Given the description of an element on the screen output the (x, y) to click on. 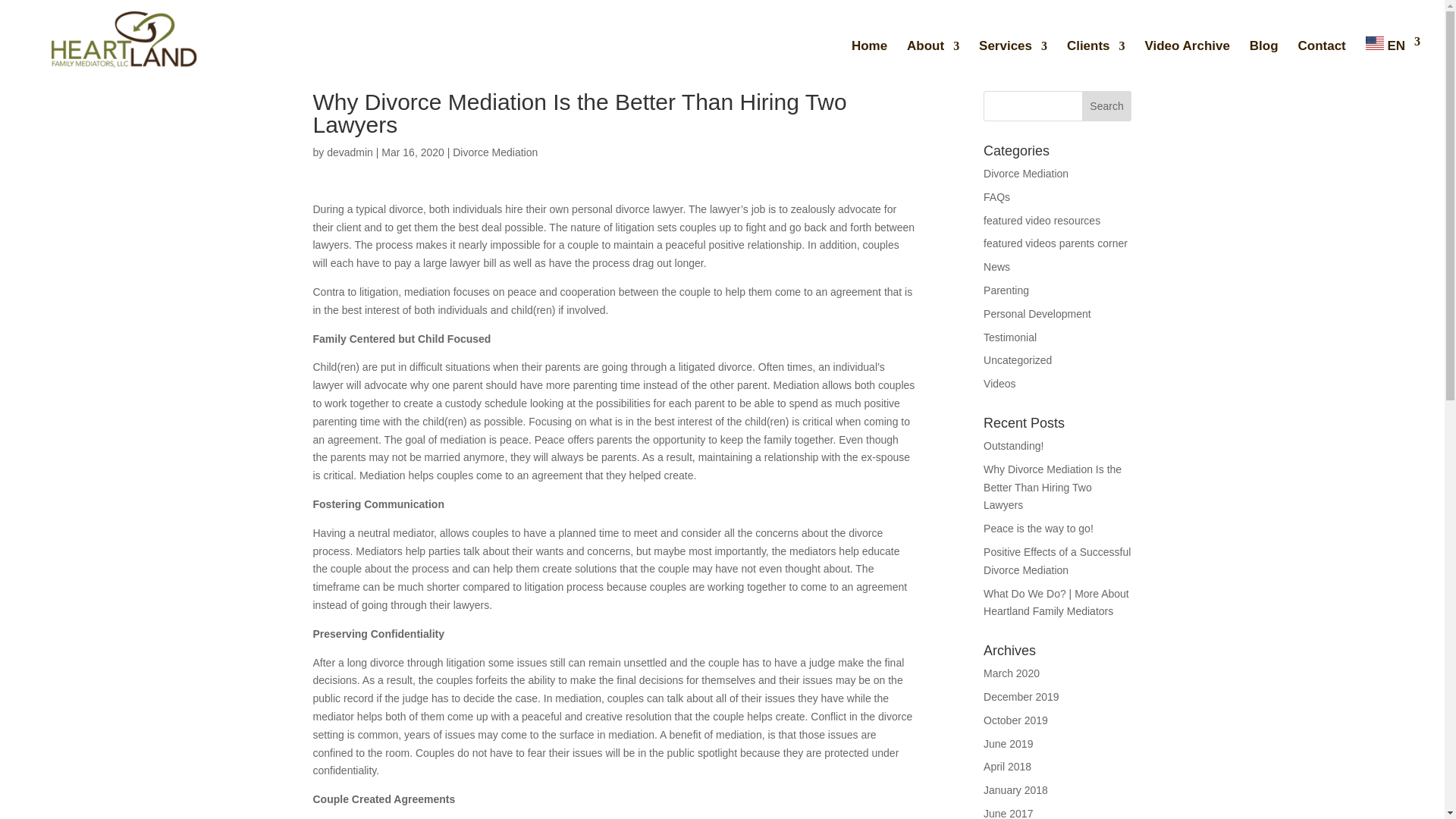
EN (1393, 50)
English (1393, 50)
Home (868, 52)
Clients (1096, 52)
Contact (1321, 52)
Blog (1263, 52)
Posts by devadmin (349, 152)
Services (1012, 52)
About (933, 52)
Search (1106, 105)
